Given the description of an element on the screen output the (x, y) to click on. 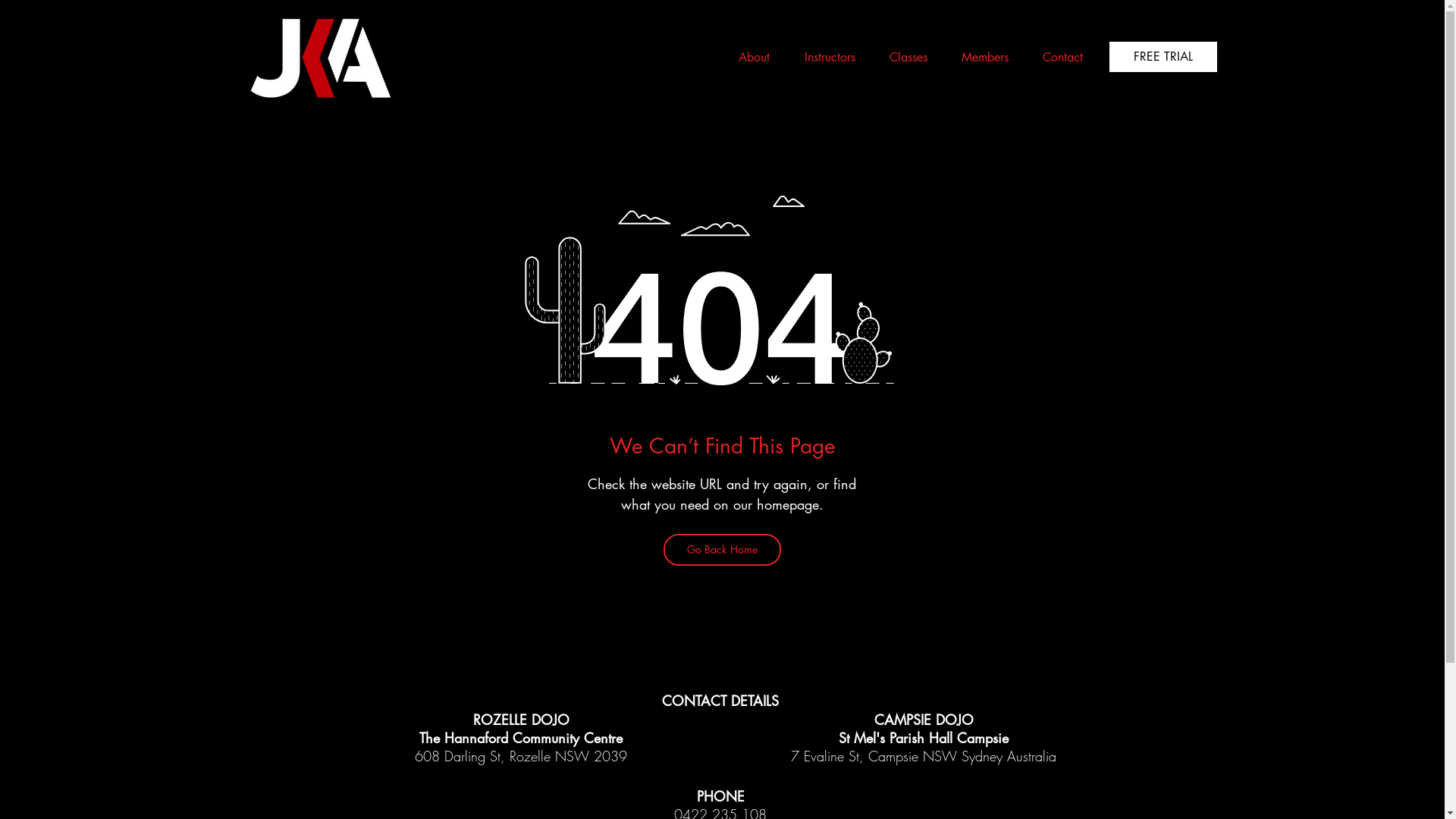
Classes Element type: text (902, 57)
FREE TRIAL Element type: text (1162, 56)
About Element type: text (747, 57)
Contact Element type: text (1056, 57)
Instructors Element type: text (823, 57)
Go Back Home Element type: text (721, 549)
